Given the description of an element on the screen output the (x, y) to click on. 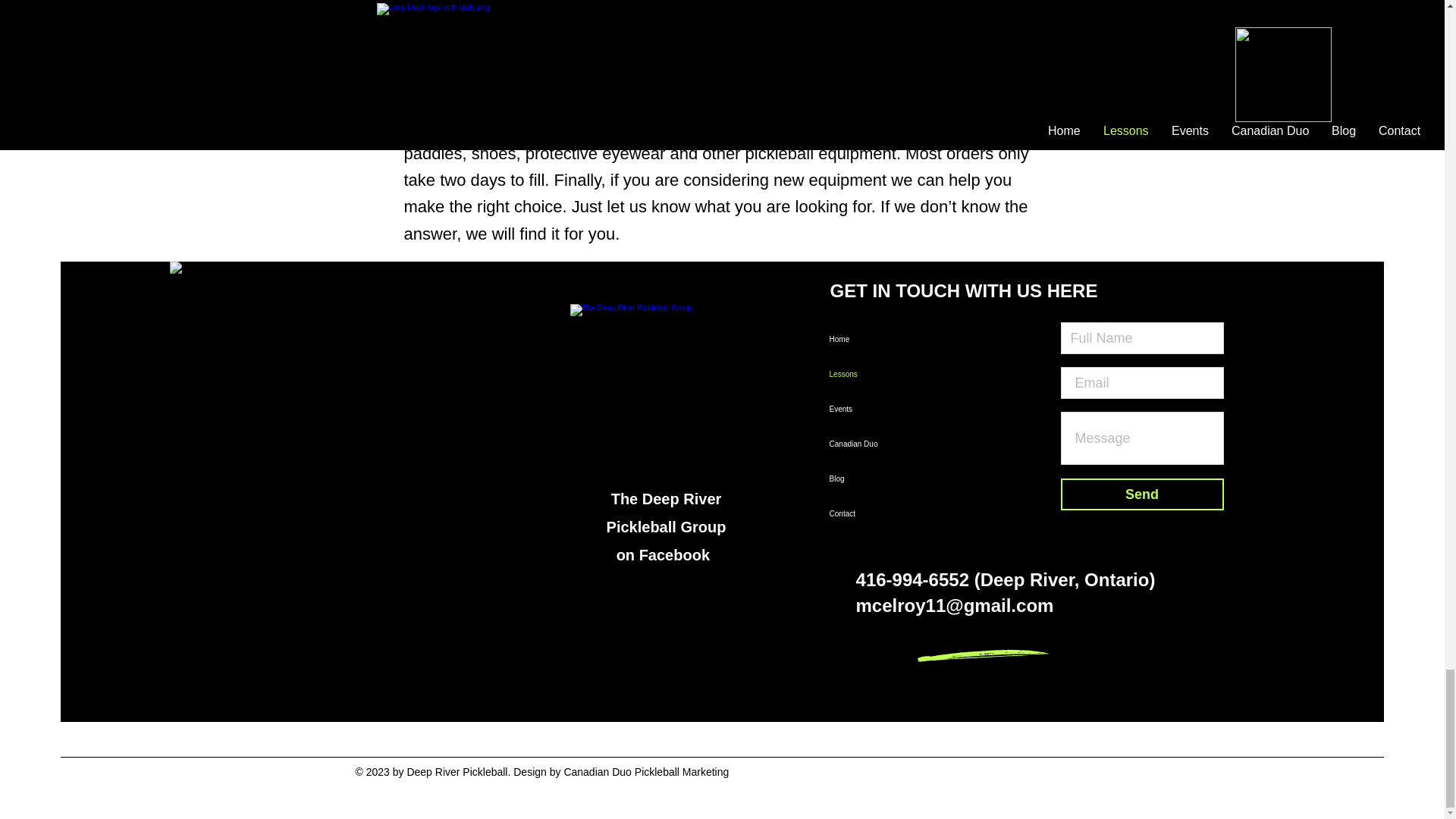
Lessons (890, 374)
Canadian Duo (890, 443)
PB Logo Blue and Pink.png (337, 429)
Send (1142, 494)
Join us on Facebook (666, 400)
Blog (890, 478)
Home (890, 339)
Contact (890, 513)
Events (890, 409)
